Given the description of an element on the screen output the (x, y) to click on. 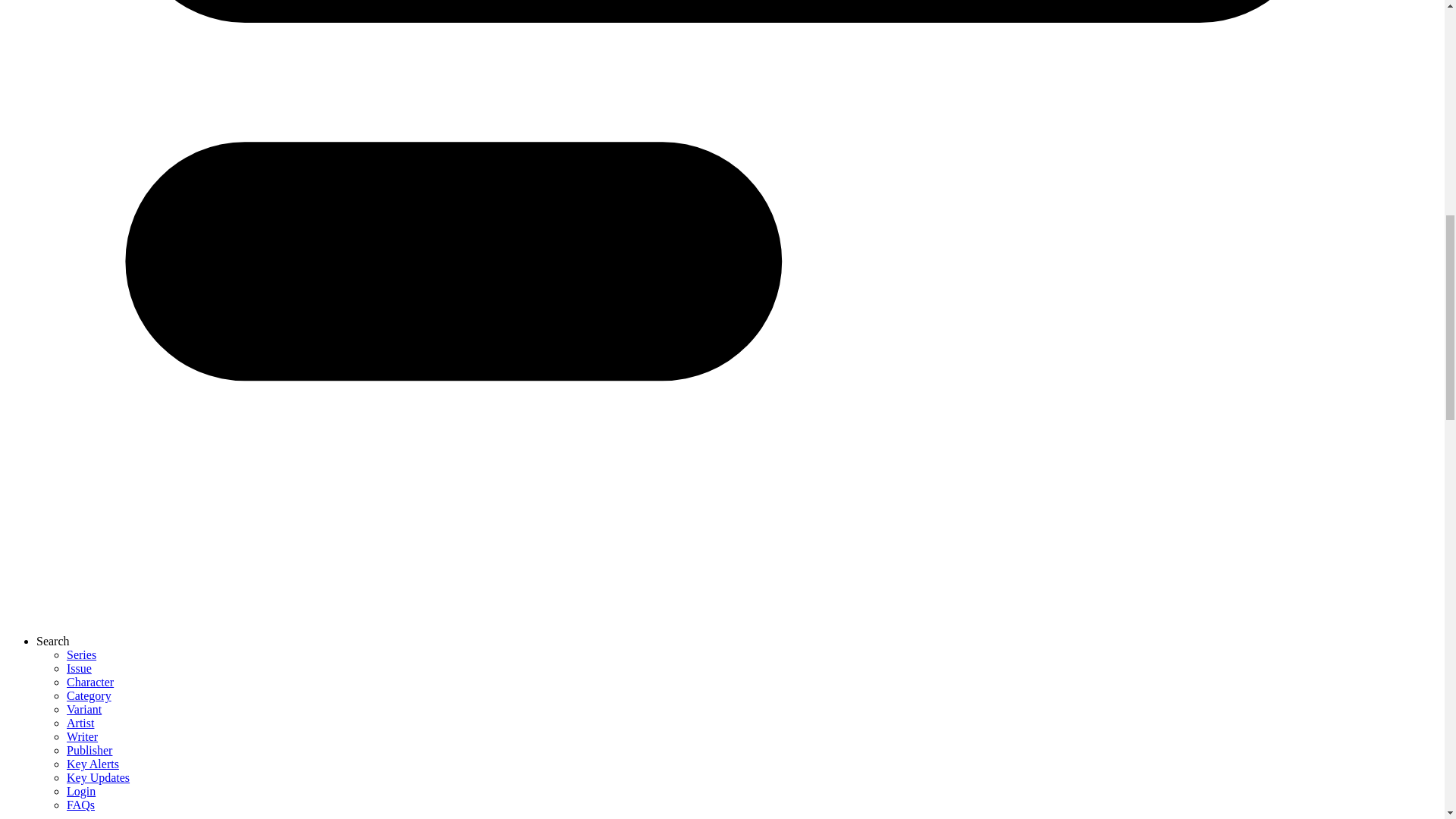
Key Alerts (92, 763)
Login (81, 790)
Writer (81, 736)
Variant (83, 708)
Publisher (89, 749)
Category (89, 695)
Character (89, 681)
FAQs (80, 804)
Issue (78, 667)
Artist (80, 722)
